Given the description of an element on the screen output the (x, y) to click on. 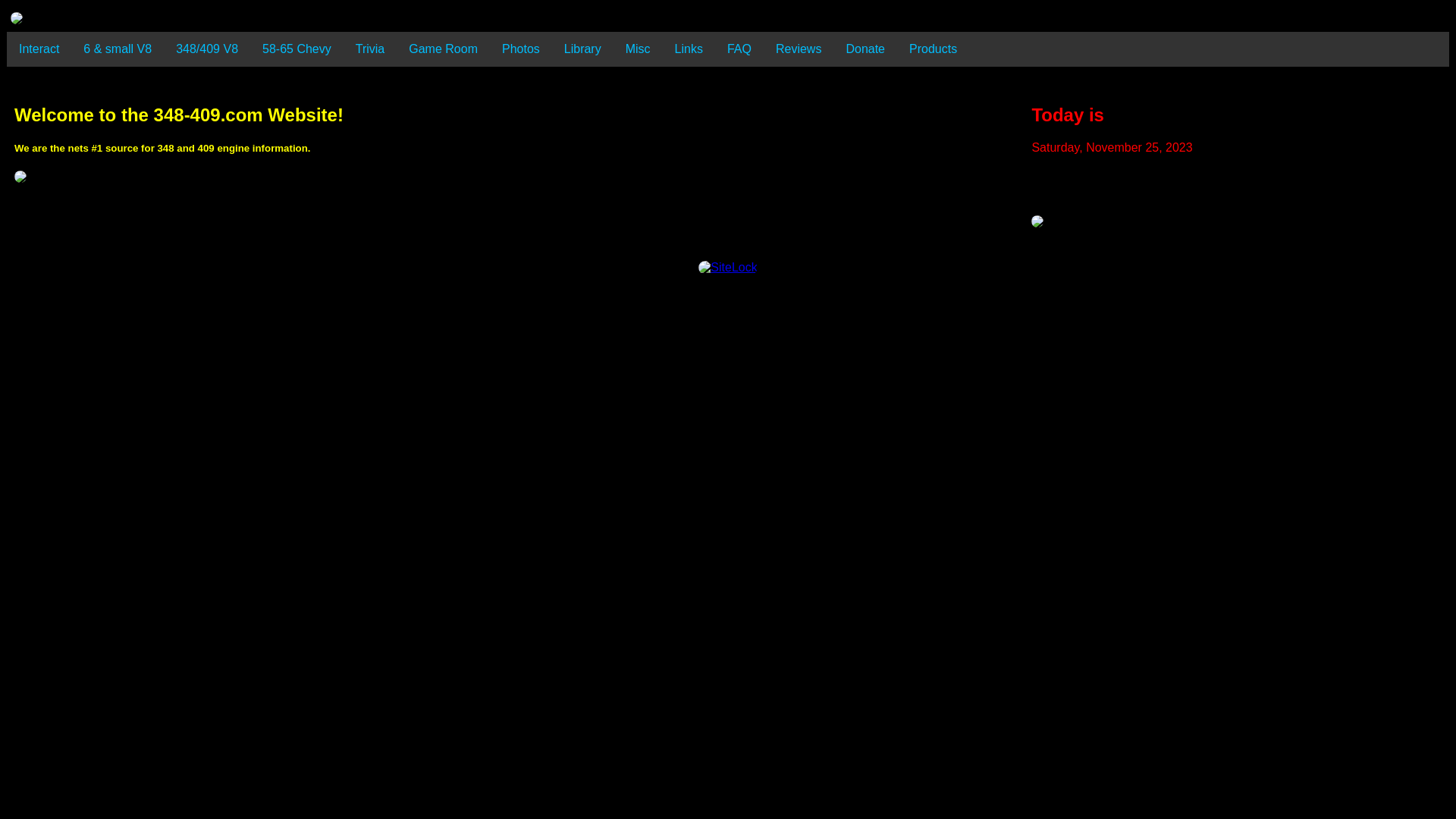
FAQ Element type: text (739, 48)
Reviews Element type: text (798, 48)
Interact Element type: text (38, 48)
Photos Element type: text (520, 48)
Donate Element type: text (865, 48)
6 & small V8 Element type: text (117, 48)
Library Element type: text (582, 48)
348/409 V8 Element type: text (206, 48)
SiteLock Element type: hover (727, 267)
Misc Element type: text (637, 48)
Game Room Element type: text (442, 48)
58-65 Chevy Element type: text (296, 48)
Products Element type: text (933, 48)
Links Element type: text (688, 48)
Trivia Element type: text (370, 48)
